Given the description of an element on the screen output the (x, y) to click on. 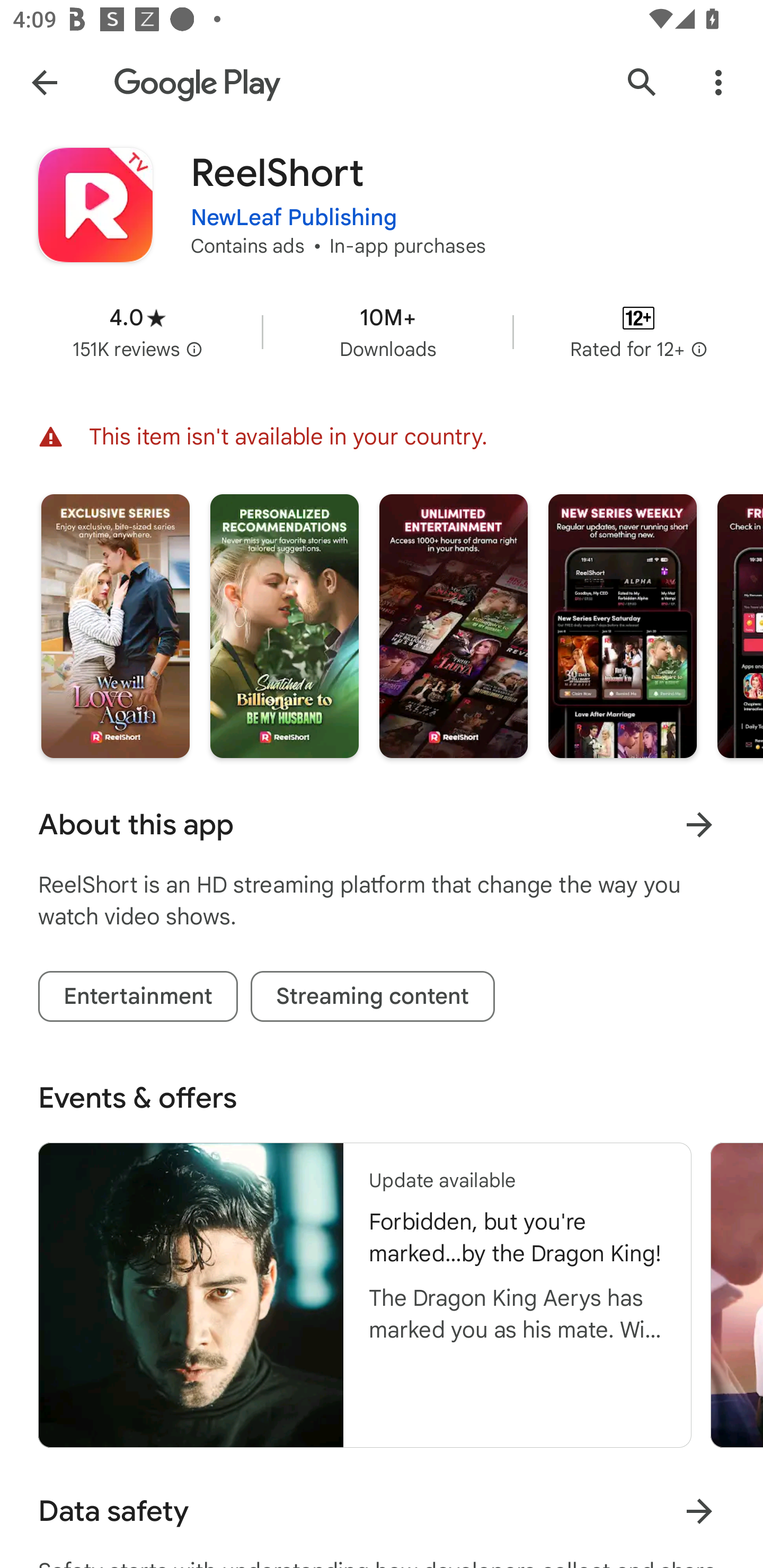
Navigate up (44, 81)
Search Google Play (642, 81)
More Options (718, 81)
NewLeaf Publishing (293, 217)
Average rating 4.0 stars in 151 thousand reviews (137, 331)
Content rating Rated for 12+ (638, 331)
Screenshot "1" of "6" (115, 625)
Screenshot "2" of "6" (284, 625)
Screenshot "3" of "6" (453, 625)
Screenshot "4" of "6" (622, 625)
About this app Learn more About this app (381, 824)
Learn more About this app (699, 824)
Entertainment tag (138, 996)
Streaming content tag (372, 996)
Data safety Learn more about data safety (381, 1510)
Learn more about data safety (699, 1511)
